Given the description of an element on the screen output the (x, y) to click on. 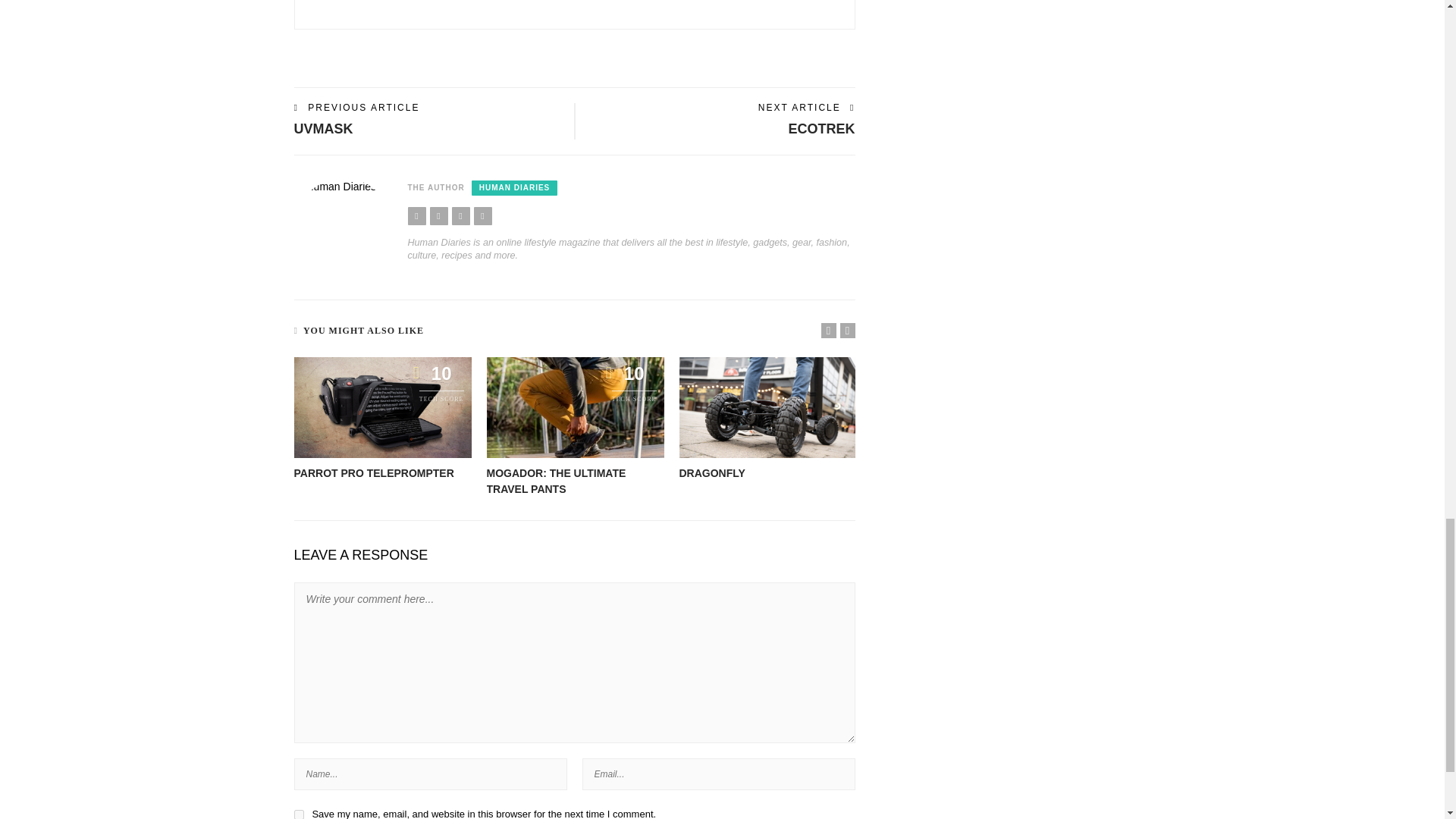
yes (299, 814)
